Given the description of an element on the screen output the (x, y) to click on. 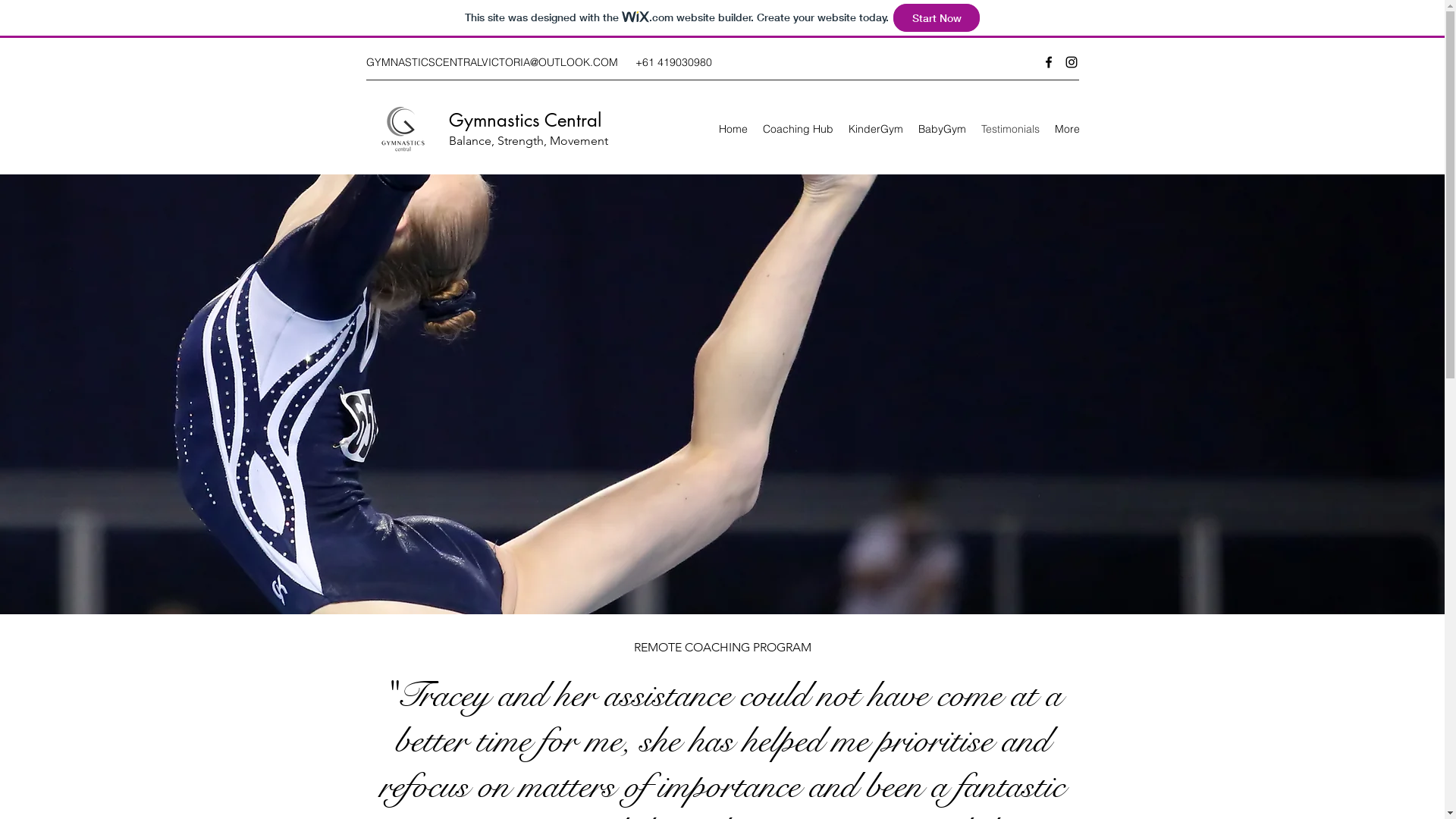
BabyGym Element type: text (941, 128)
GYMNASTICSCENTRALVICTORIA@OUTLOOK.COM Element type: text (491, 62)
Coaching Hub Element type: text (797, 128)
KinderGym Element type: text (875, 128)
Testimonials Element type: text (1010, 128)
Home Element type: text (733, 128)
